Given the description of an element on the screen output the (x, y) to click on. 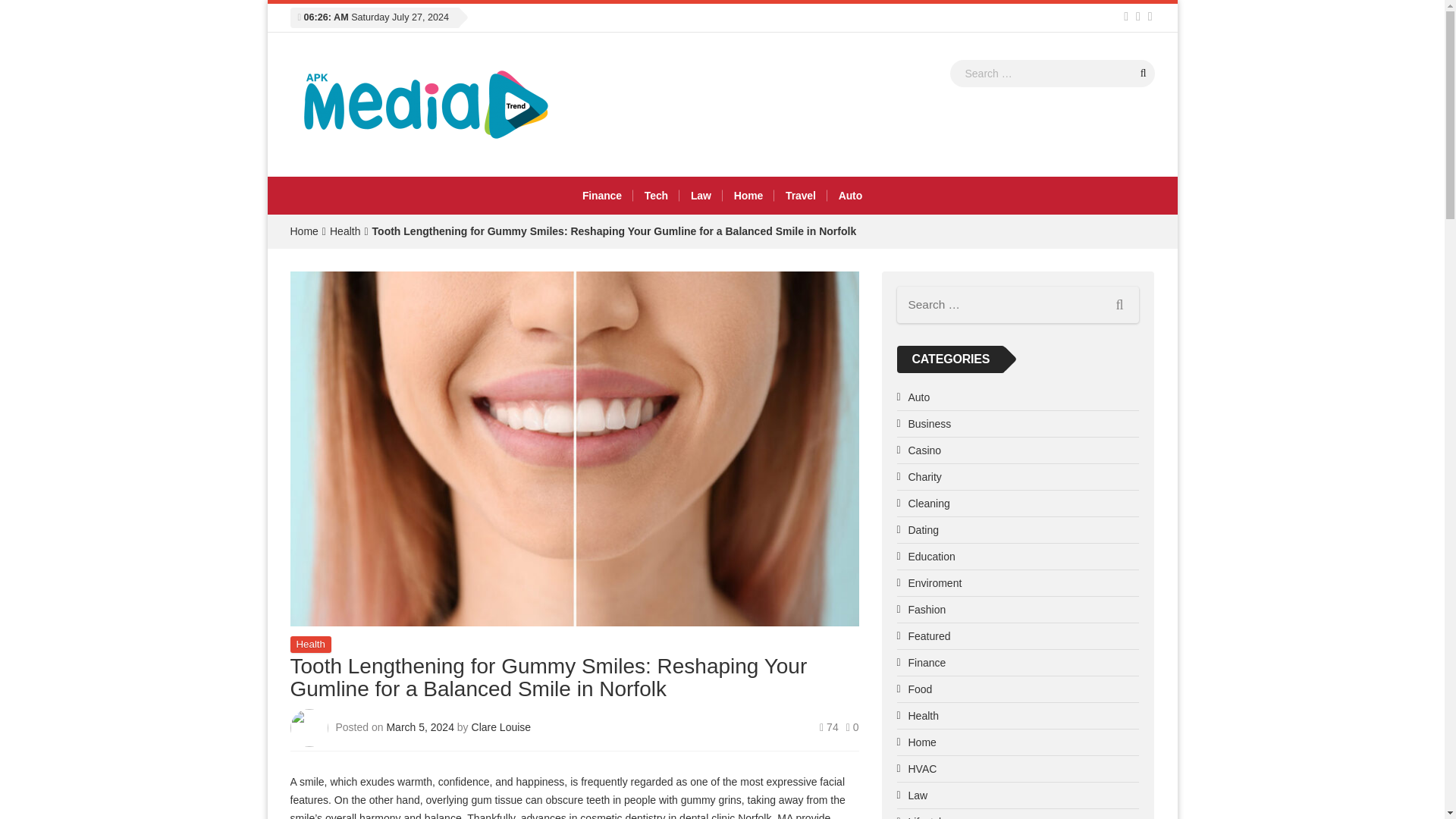
Health (309, 643)
Tech (656, 195)
Health (344, 231)
Home (303, 231)
Finance (601, 195)
0 (852, 727)
Search (1143, 72)
Search for: (1051, 72)
Home (303, 231)
Auto (850, 195)
dental clinic Norfolk, MA (735, 815)
Home (748, 195)
March 5, 2024 (421, 727)
Travel (800, 195)
